Given the description of an element on the screen output the (x, y) to click on. 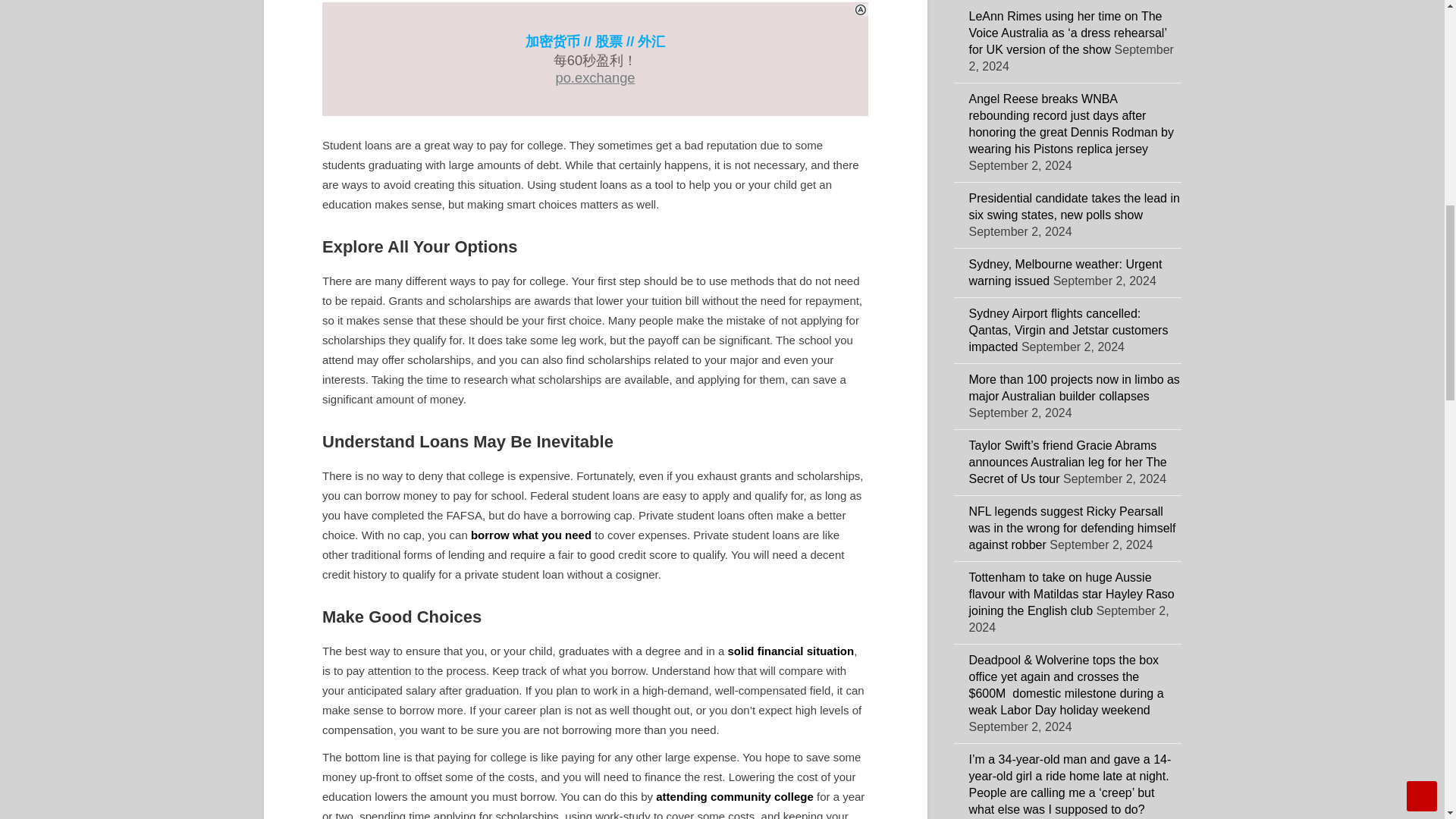
borrow what you need (530, 534)
Sydney, Melbourne weather: Urgent warning issued (1065, 272)
solid financial situation (791, 650)
attending community college (734, 796)
